Given the description of an element on the screen output the (x, y) to click on. 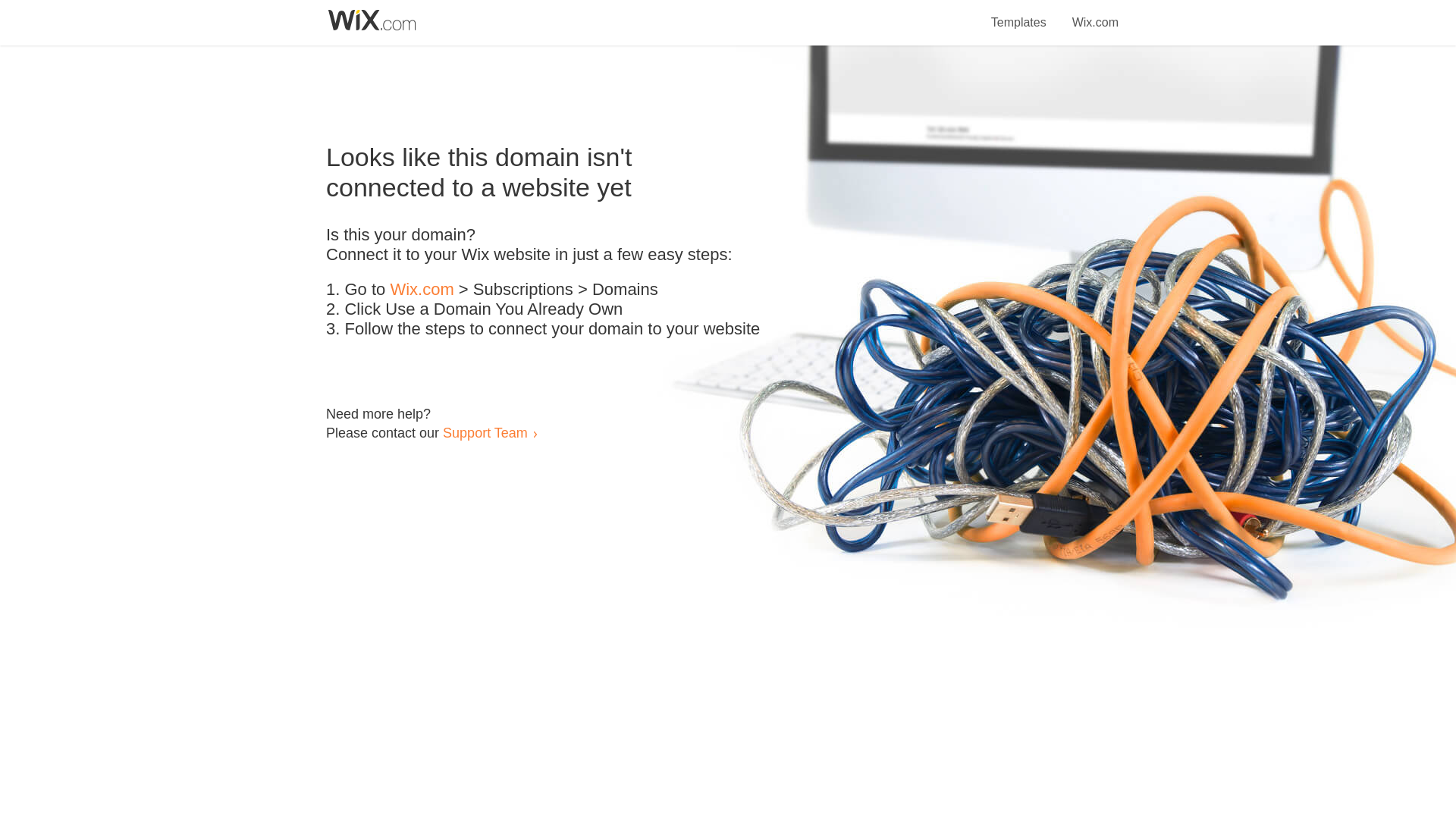
Support Team (484, 432)
Wix.com (421, 289)
Templates (1018, 14)
Wix.com (1095, 14)
